Given the description of an element on the screen output the (x, y) to click on. 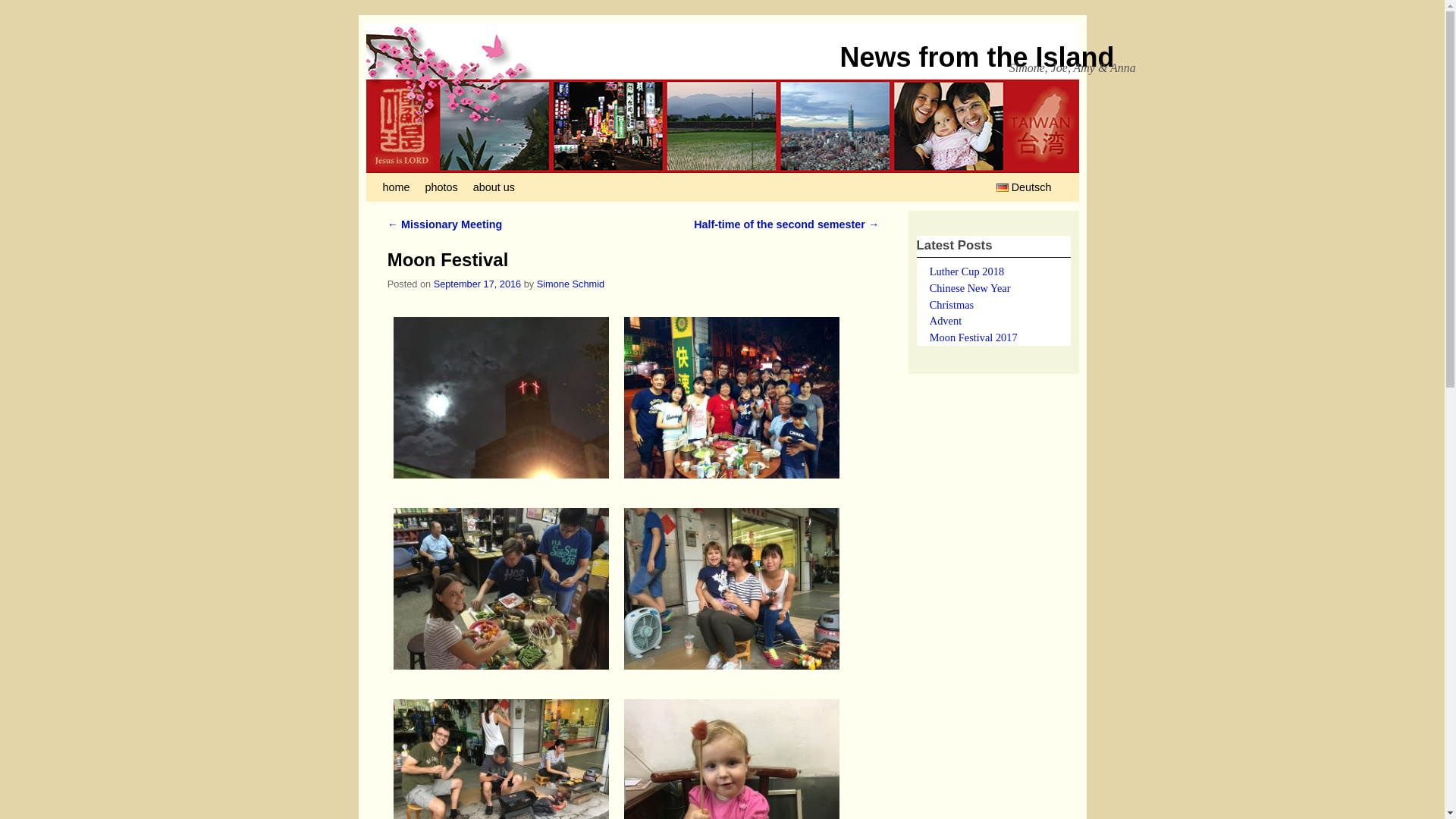
Advent (945, 320)
News from the Island (976, 56)
September 17, 2016 (477, 283)
9:05 am (477, 283)
Deutsch (1022, 186)
about us (493, 186)
Simone Schmid (570, 283)
Skip to primary content (444, 186)
Skip to secondary content (451, 186)
Moon Festival 2017 (973, 337)
